Given the description of an element on the screen output the (x, y) to click on. 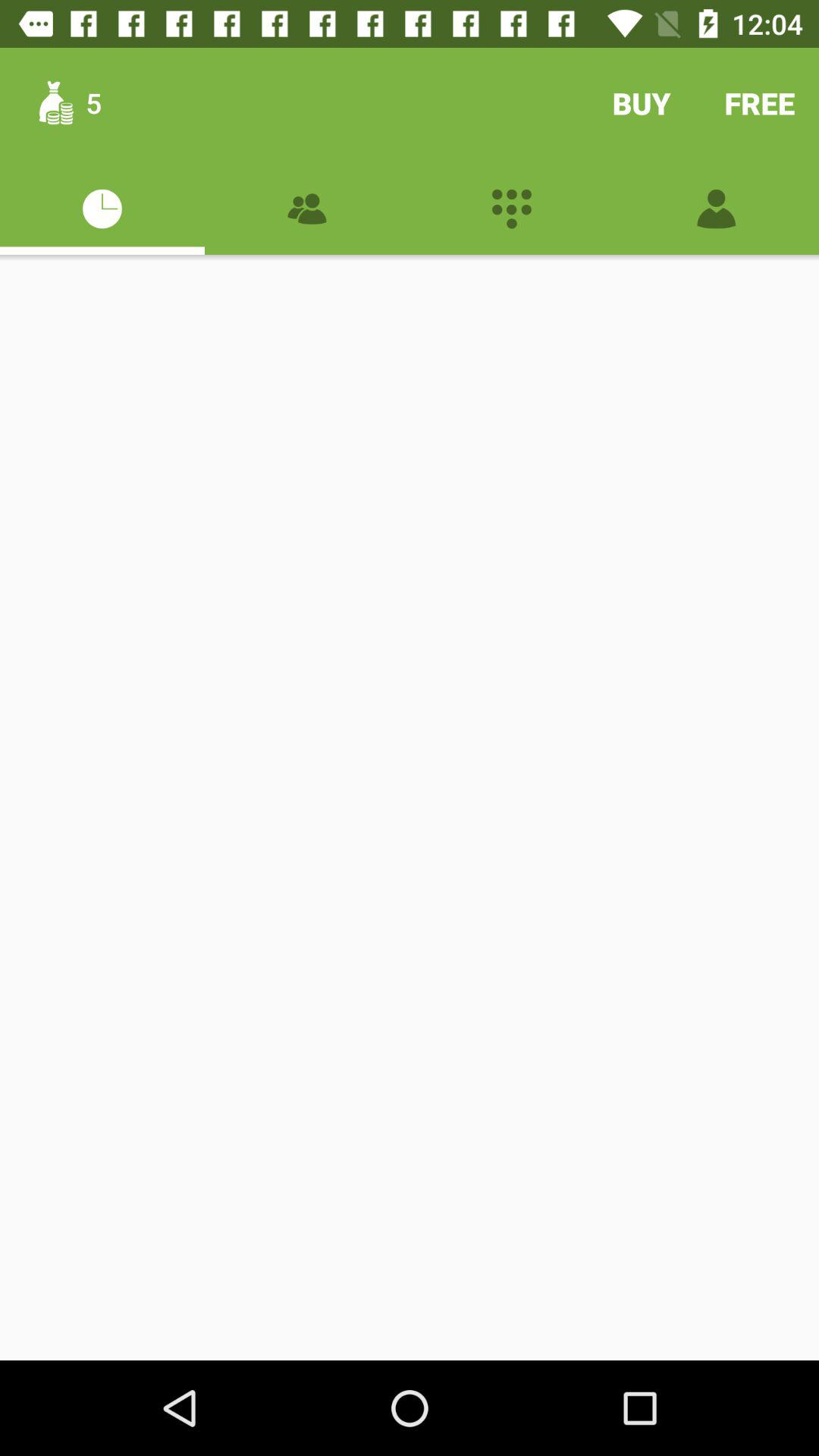
click the buy (641, 103)
